Given the description of an element on the screen output the (x, y) to click on. 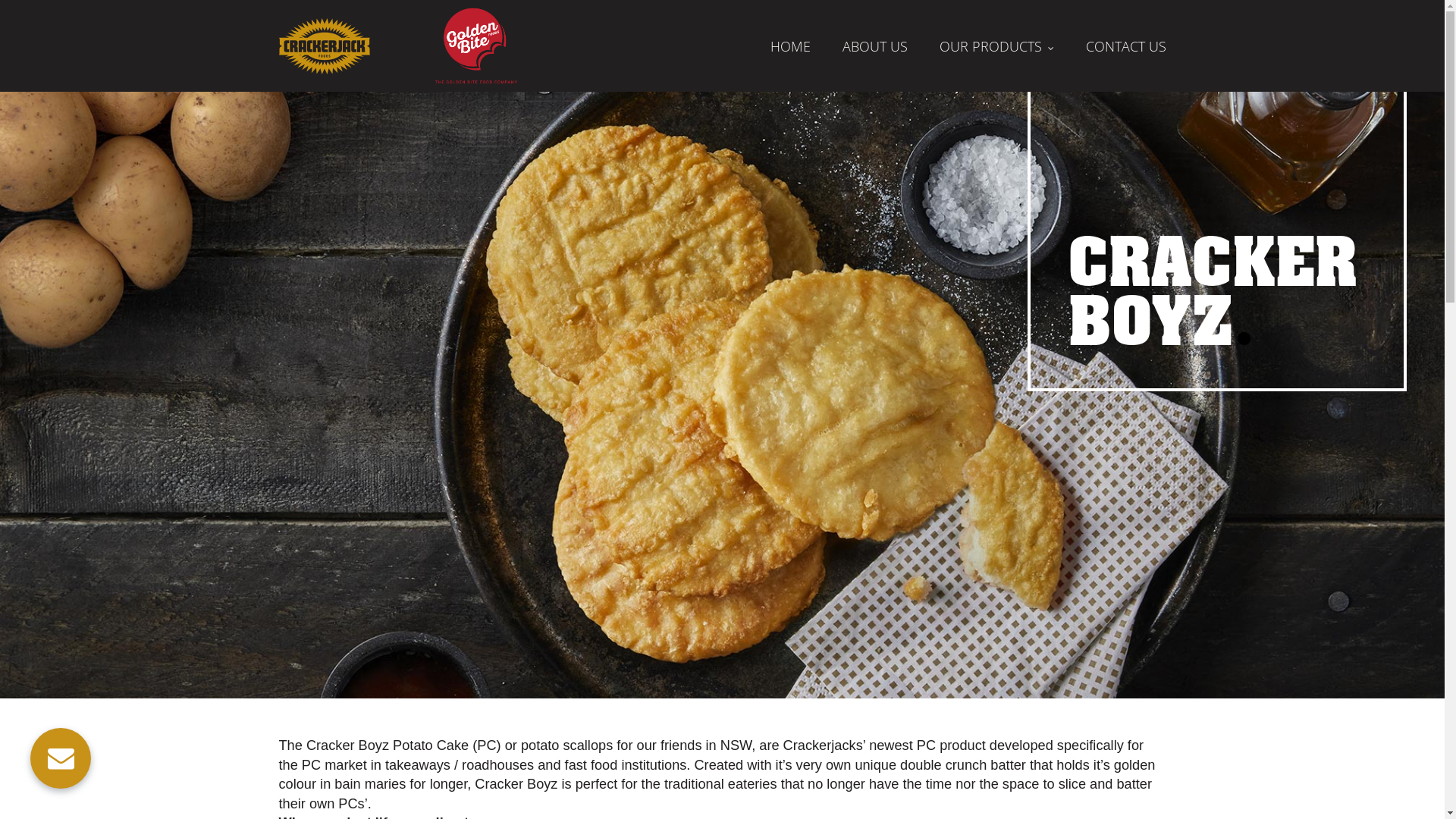
CONTACT US Element type: text (1125, 46)
ABOUT US Element type: text (874, 46)
OUR PRODUCTS Element type: text (996, 46)
HOME Element type: text (790, 46)
